Given the description of an element on the screen output the (x, y) to click on. 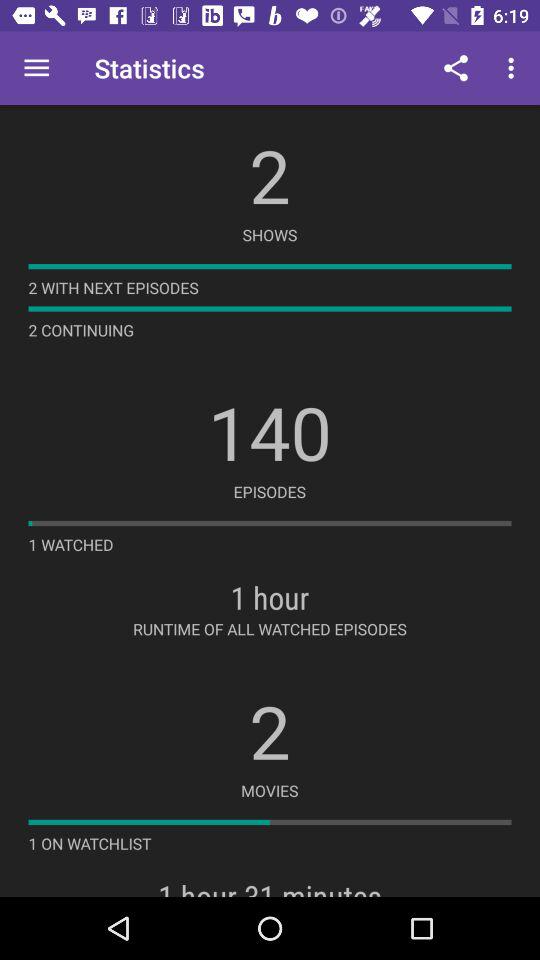
tap 2 with next icon (113, 287)
